Given the description of an element on the screen output the (x, y) to click on. 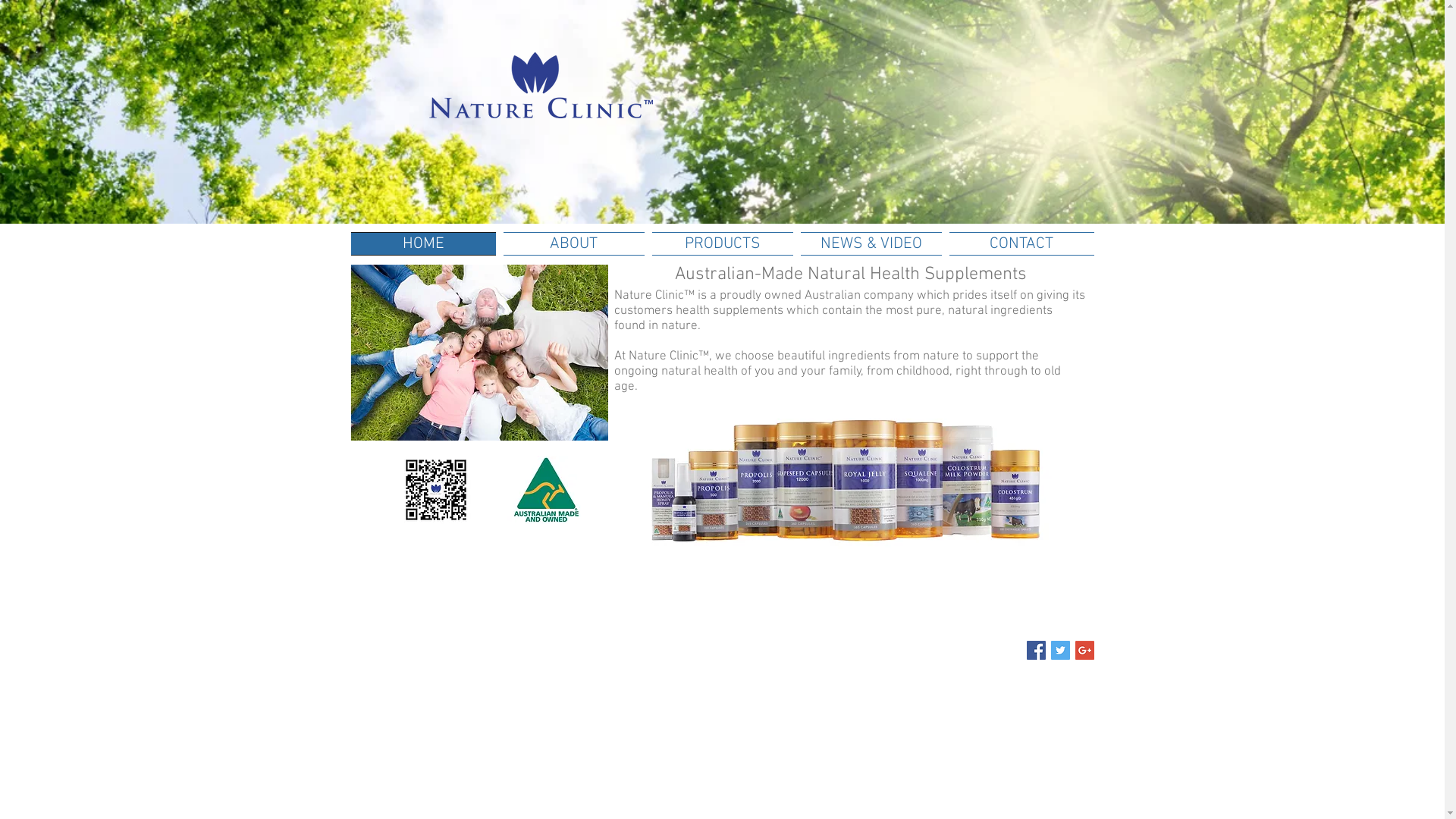
PRODUCTS Element type: text (721, 243)
CONTACT Element type: text (1018, 243)
HOME Element type: text (424, 243)
Group_DE_Web.jpg Element type: hover (844, 479)
ABOUT Element type: text (572, 243)
Family-Gernations-Web.jpg Element type: hover (478, 351)
NEWS & VIDEO Element type: text (870, 243)
